Given the description of an element on the screen output the (x, y) to click on. 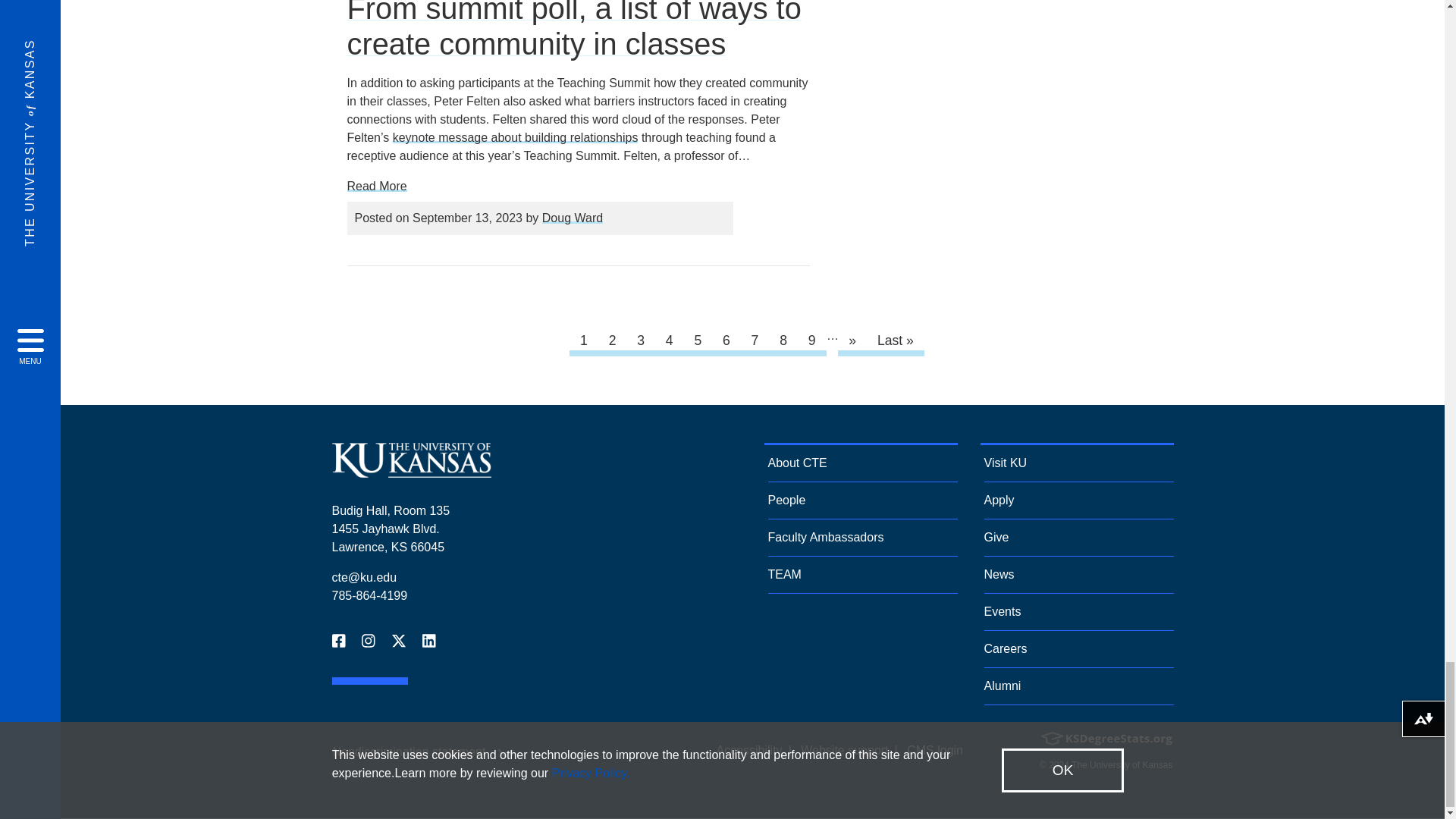
Go to last page (895, 341)
Go to next page (852, 341)
Go to page 7 (754, 341)
Go to page 6 (726, 341)
Go to page 2 (611, 341)
Go to page 5 (697, 341)
Go to page 8 (782, 341)
Current page (583, 341)
Go to page 3 (641, 341)
The University of Kansas (411, 471)
Go to page 9 (811, 341)
Go to page 4 (668, 341)
